Given the description of an element on the screen output the (x, y) to click on. 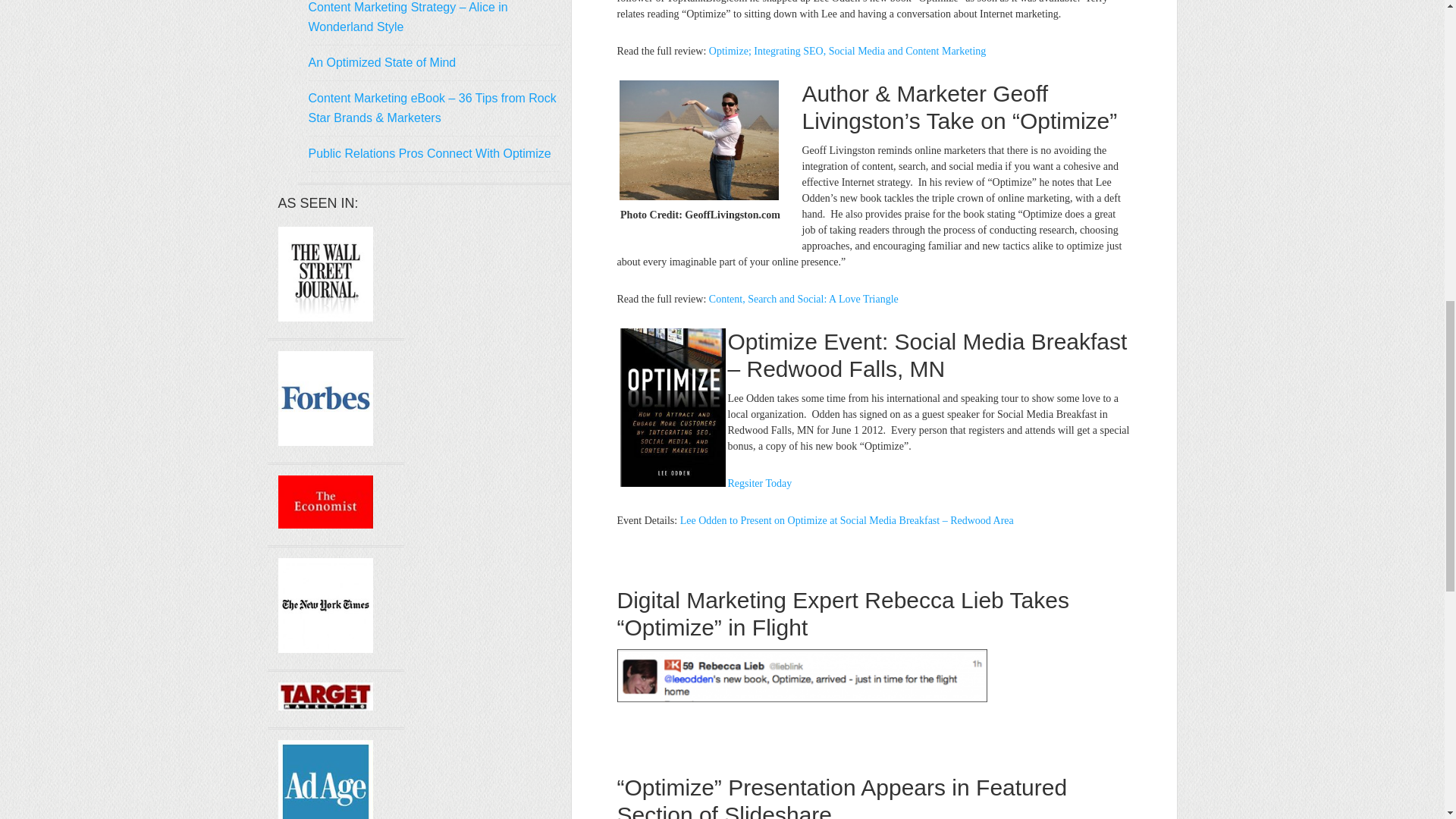
geofflivingston (697, 139)
NY Times by toprankonlinemarketing, on Flickr (325, 648)
target marketing mag by toprankonlinemarketing, on Flickr (325, 706)
the economist by toprankonlinemarketing, on Flickr (325, 523)
Public Relations Pros Connect With Optimize (428, 153)
Content, Search and Social: A Love Triangle (803, 298)
An Optimized State of Mind (381, 62)
Regsiter Today (760, 482)
Rebecca Lieb (802, 675)
forbes by toprankonlinemarketing, on Flickr (325, 440)
